Given the description of an element on the screen output the (x, y) to click on. 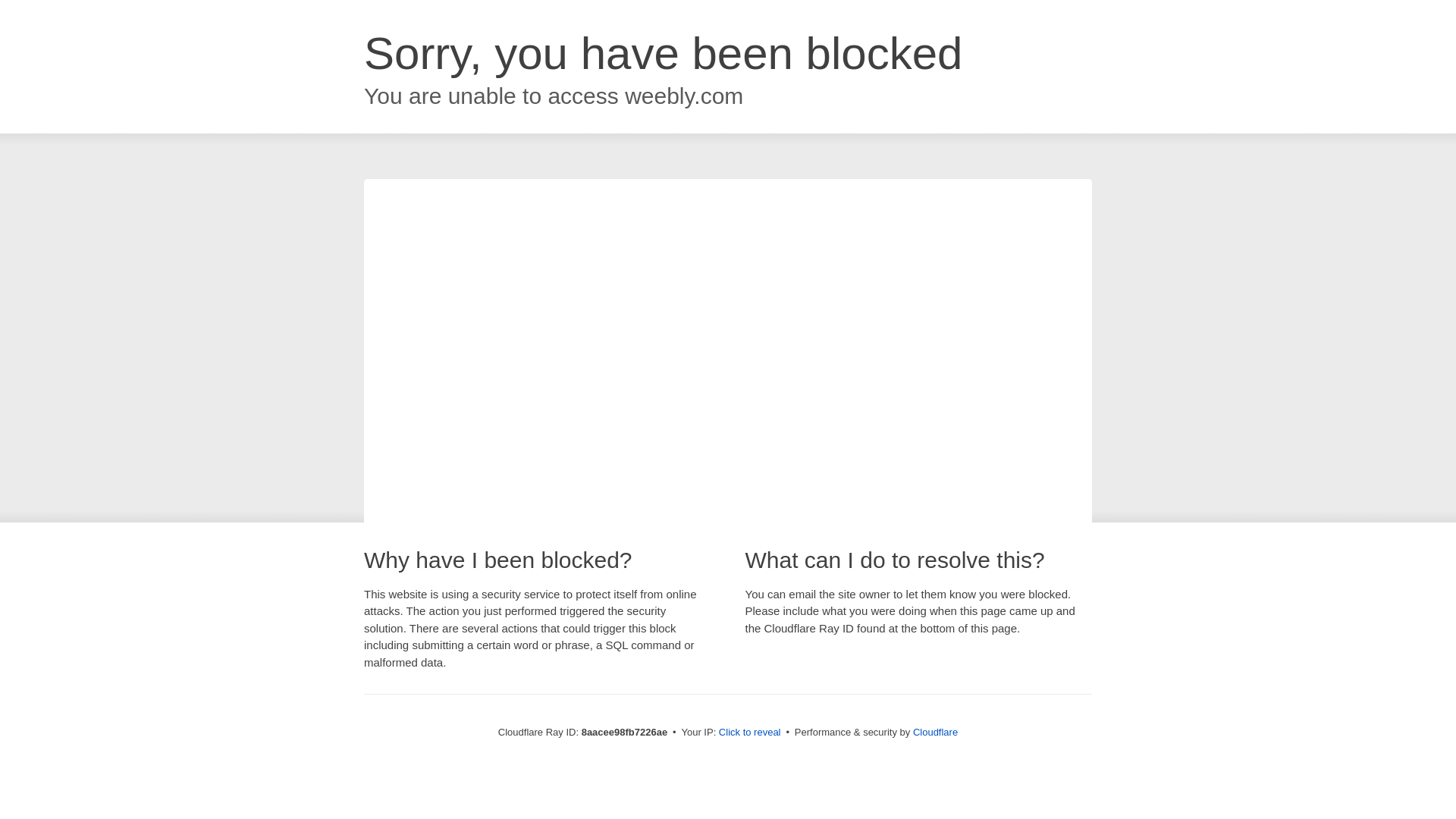
Click to reveal (749, 732)
Cloudflare (935, 731)
